Given the description of an element on the screen output the (x, y) to click on. 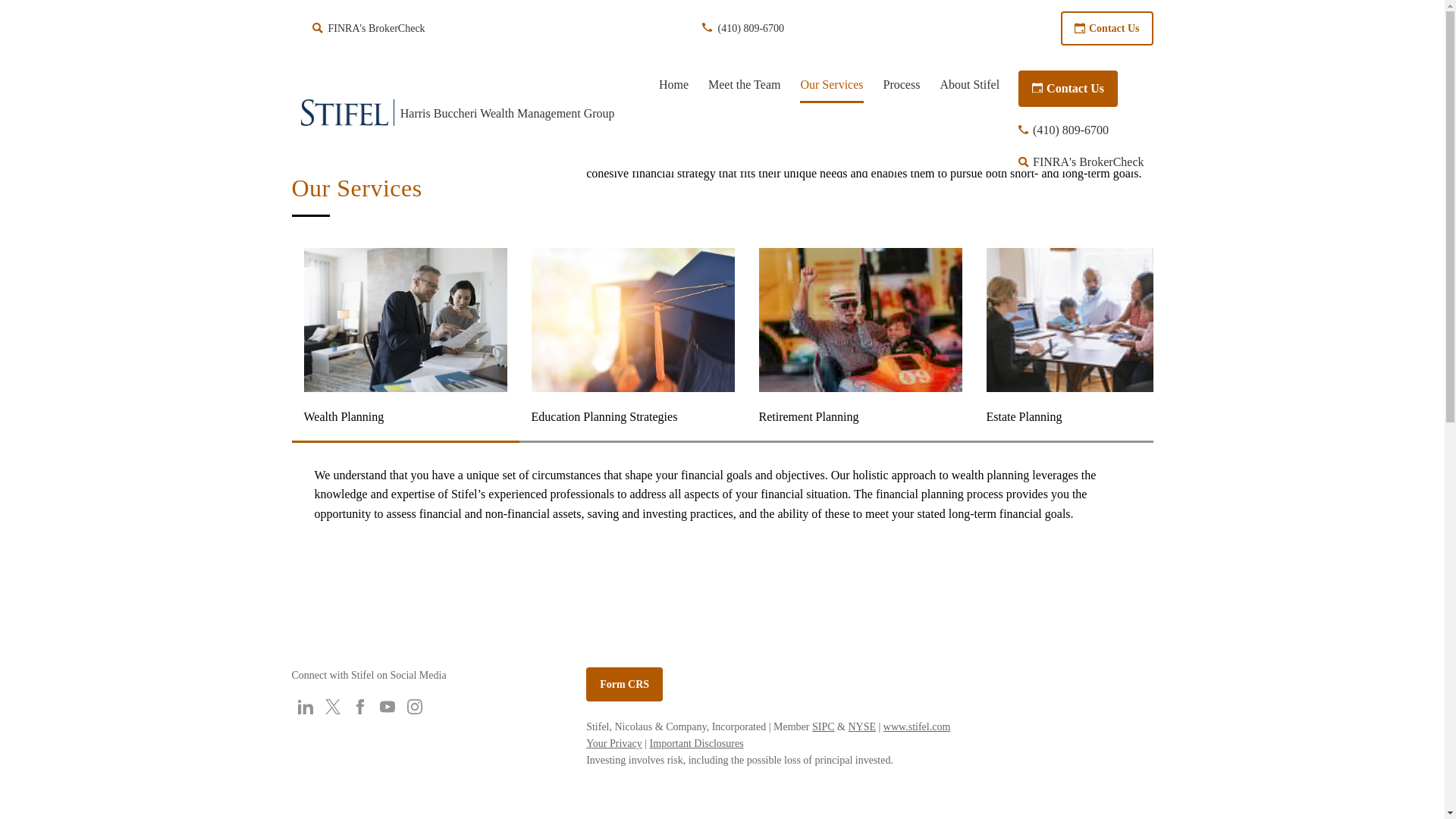
Estate Planning (1087, 339)
Wealth Planning (404, 339)
visit us at Instagram (414, 706)
visit us at Facebook (359, 706)
visit us at YouTube (386, 706)
Retirement Planning (859, 339)
Contact Us (1067, 88)
Meet the Team (743, 85)
Harris Buccheri Wealth Management Group (470, 111)
About Stifel (969, 85)
Process (901, 85)
FINRA's BrokerCheck (1079, 161)
FINRA's BrokerCheck (369, 28)
visit us at Twitter (331, 706)
Contact Us (1107, 28)
